Given the description of an element on the screen output the (x, y) to click on. 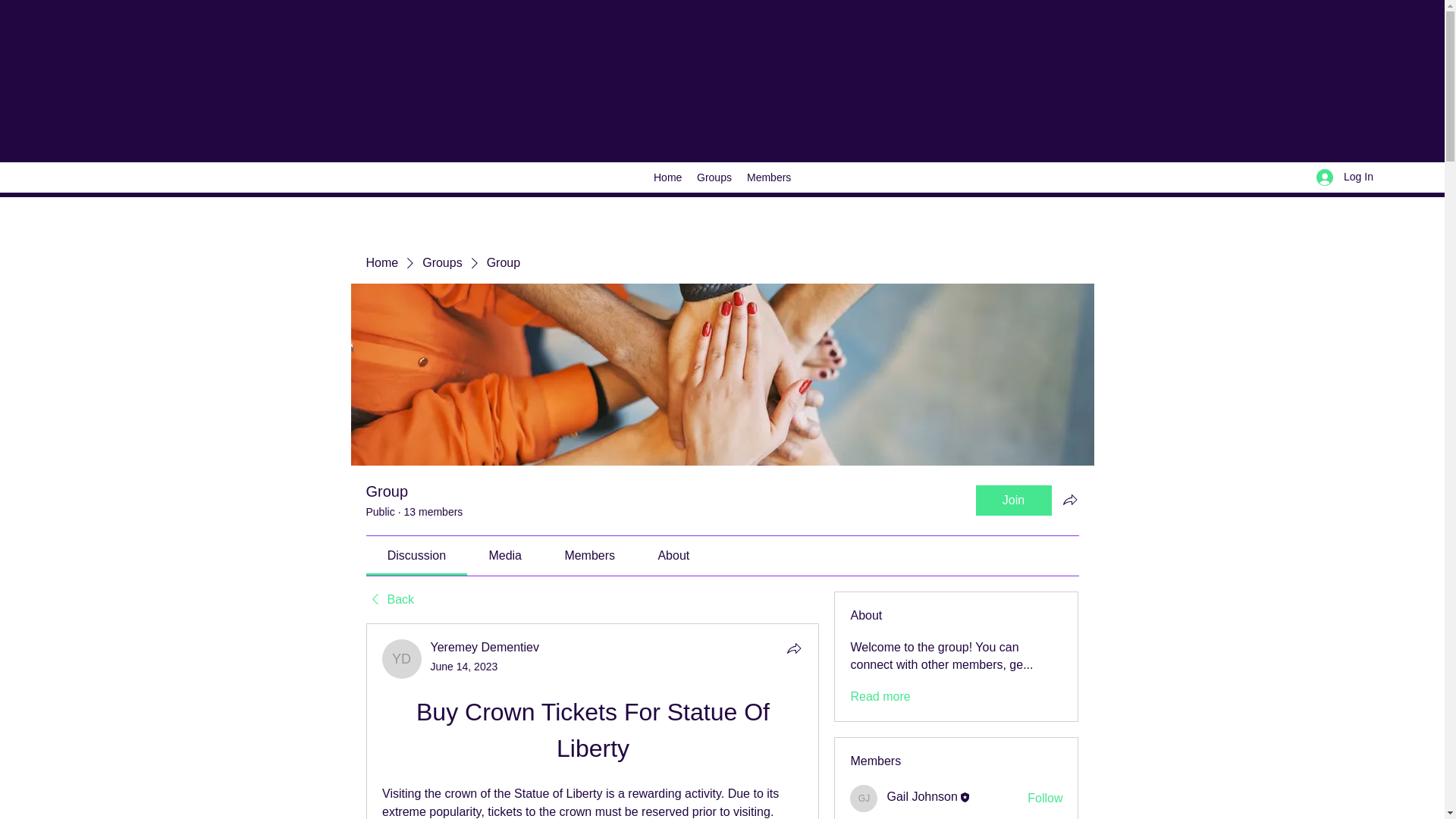
Join (1013, 500)
Home (667, 177)
Yeremey Dementiev (484, 646)
Members (768, 177)
June 14, 2023 (463, 666)
Follow (1044, 798)
Gail Johnson (863, 798)
Yeremey Dementiev (401, 658)
Back (389, 599)
Log In (1345, 176)
Gail Johnson (921, 796)
Read more (880, 696)
Groups (713, 177)
Groups (441, 262)
Home (381, 262)
